Given the description of an element on the screen output the (x, y) to click on. 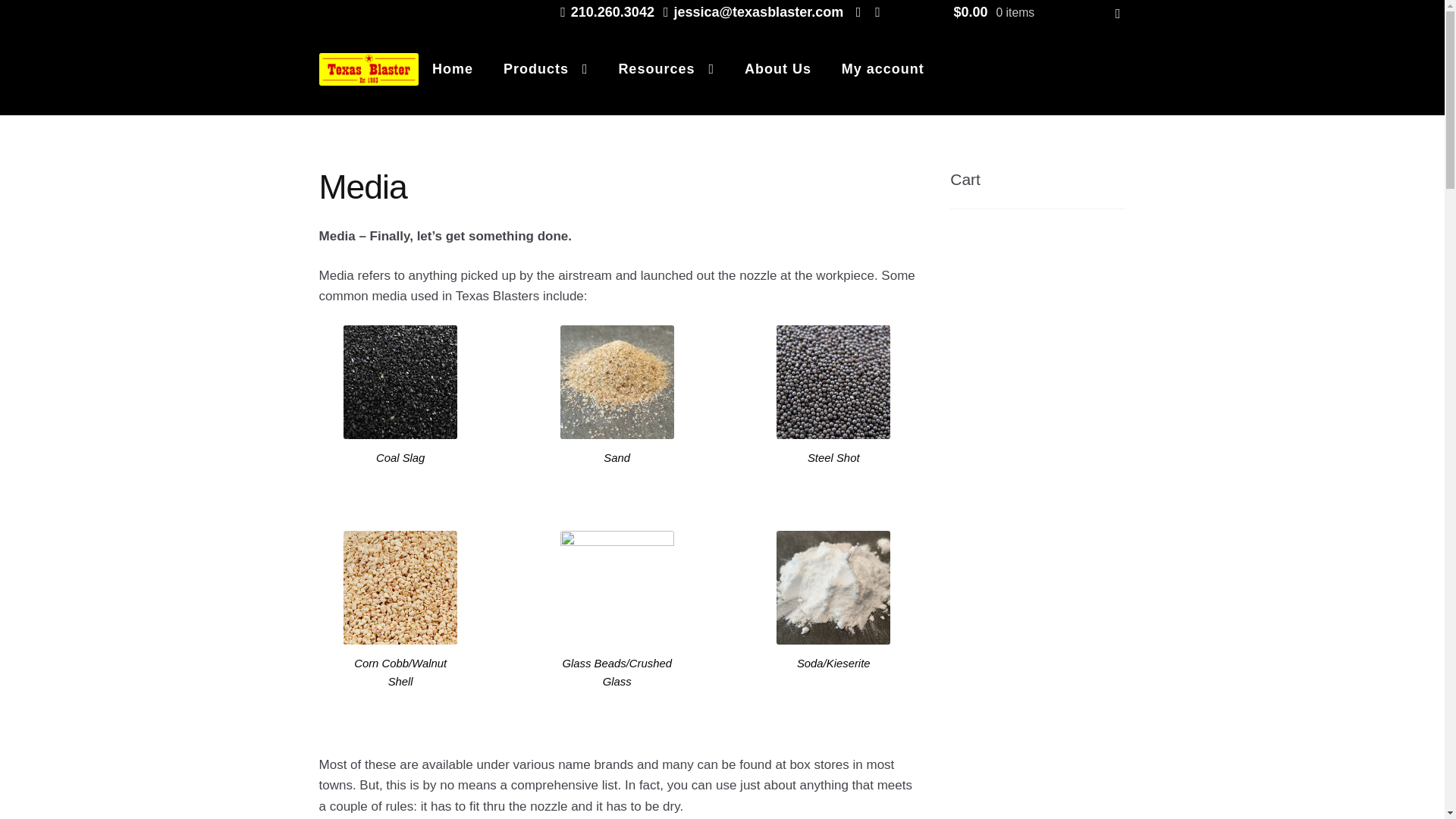
Products (545, 69)
210.260.3042 (603, 11)
My account (882, 69)
View your shopping cart (1036, 12)
Resources (666, 69)
Home (452, 69)
About Us (777, 69)
